Given the description of an element on the screen output the (x, y) to click on. 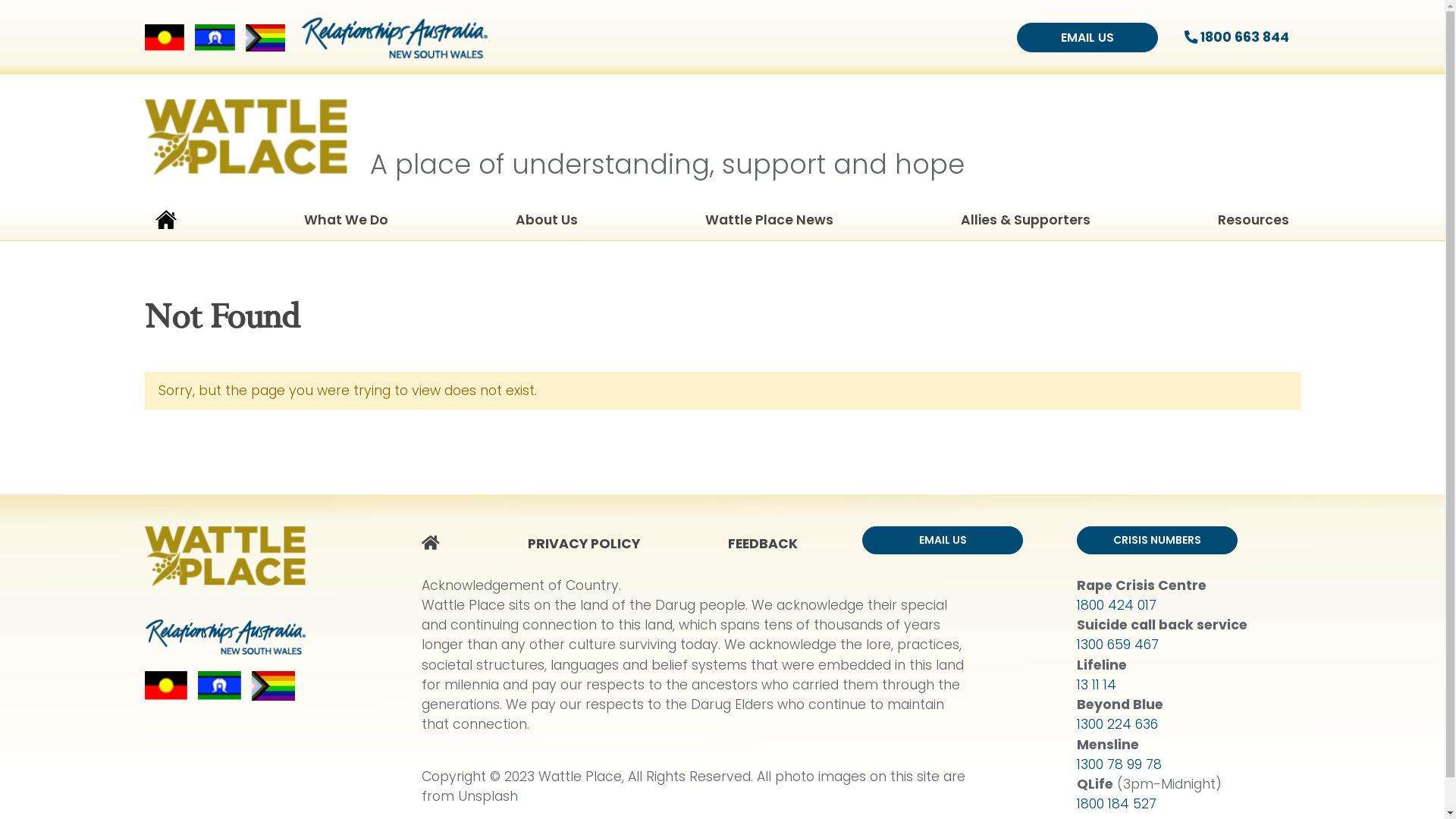
1300 78 99 78 Element type: text (1118, 764)
1800 663 844 Element type: text (1236, 36)
EMAIL US Element type: text (1086, 37)
What We Do Element type: text (345, 222)
FEEDBACK Element type: text (768, 542)
1800 184 527 Element type: text (1116, 803)
HOME Element type: text (435, 542)
1800 424 017 Element type: text (1116, 605)
Wattle Place News Element type: text (769, 222)
PRIVACY POLICY Element type: text (588, 542)
1300 224 636 Element type: text (1116, 724)
13 11 14 Element type: text (1096, 684)
1300 659 467 Element type: text (1117, 644)
Resources Element type: text (1253, 222)
About Us Element type: text (546, 222)
Home Element type: text (165, 222)
Allies & Supporters Element type: text (1025, 222)
CRISIS NUMBERS Element type: text (1156, 540)
EMAIL US Element type: text (942, 540)
